Given the description of an element on the screen output the (x, y) to click on. 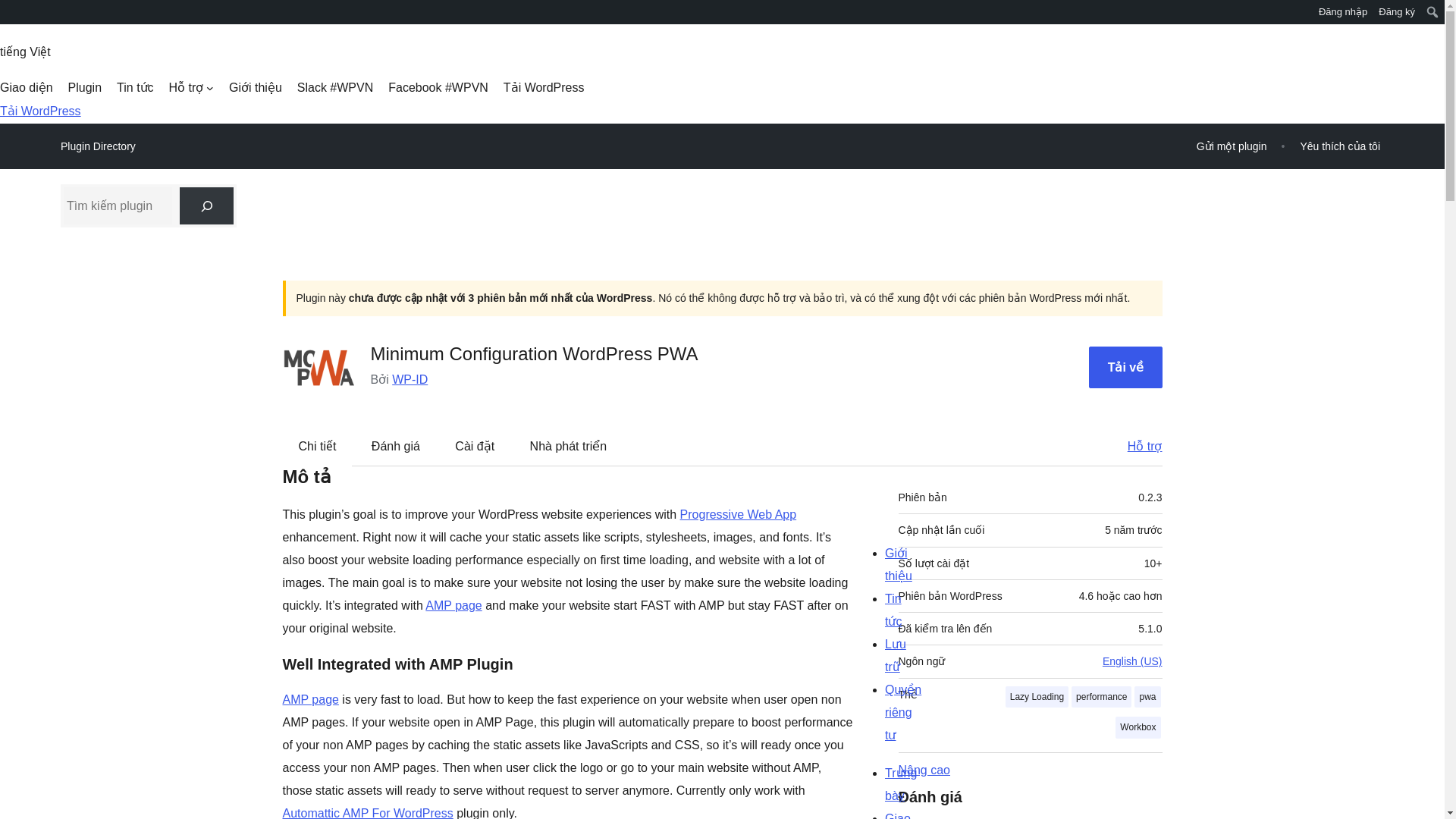
Plugin Directory (97, 146)
AMP page (309, 698)
WordPress.org (10, 10)
Progressive Web App (737, 513)
Automattic AMP For WordPress (367, 812)
WP-ID (409, 379)
AMP page (453, 604)
Plugin (84, 87)
WordPress.org (10, 16)
